Given the description of an element on the screen output the (x, y) to click on. 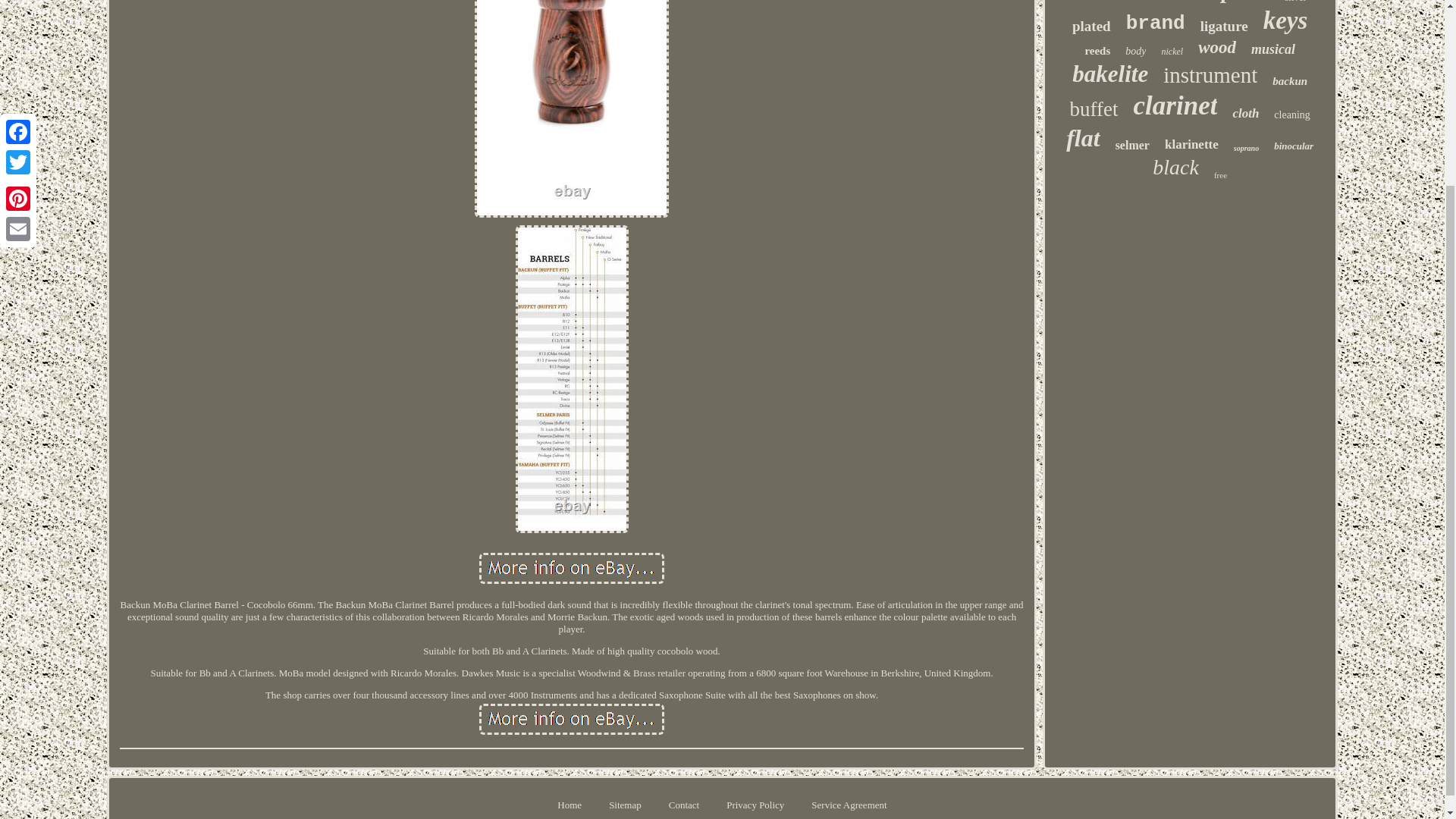
bakelite (1109, 73)
brand (1155, 23)
Backun MoBa Clarinet Barrel Cocobolo 66mm (571, 567)
ligature (1223, 26)
keys (1285, 20)
wood (1217, 47)
tube (1086, 2)
silver (1295, 2)
Email (17, 4)
Backun MoBa Clarinet Barrel Cocobolo 66mm (571, 108)
body (1135, 51)
mouthpiece (1214, 2)
musical (1272, 49)
Backun MoBa Clarinet Barrel Cocobolo 66mm (571, 718)
